Given the description of an element on the screen output the (x, y) to click on. 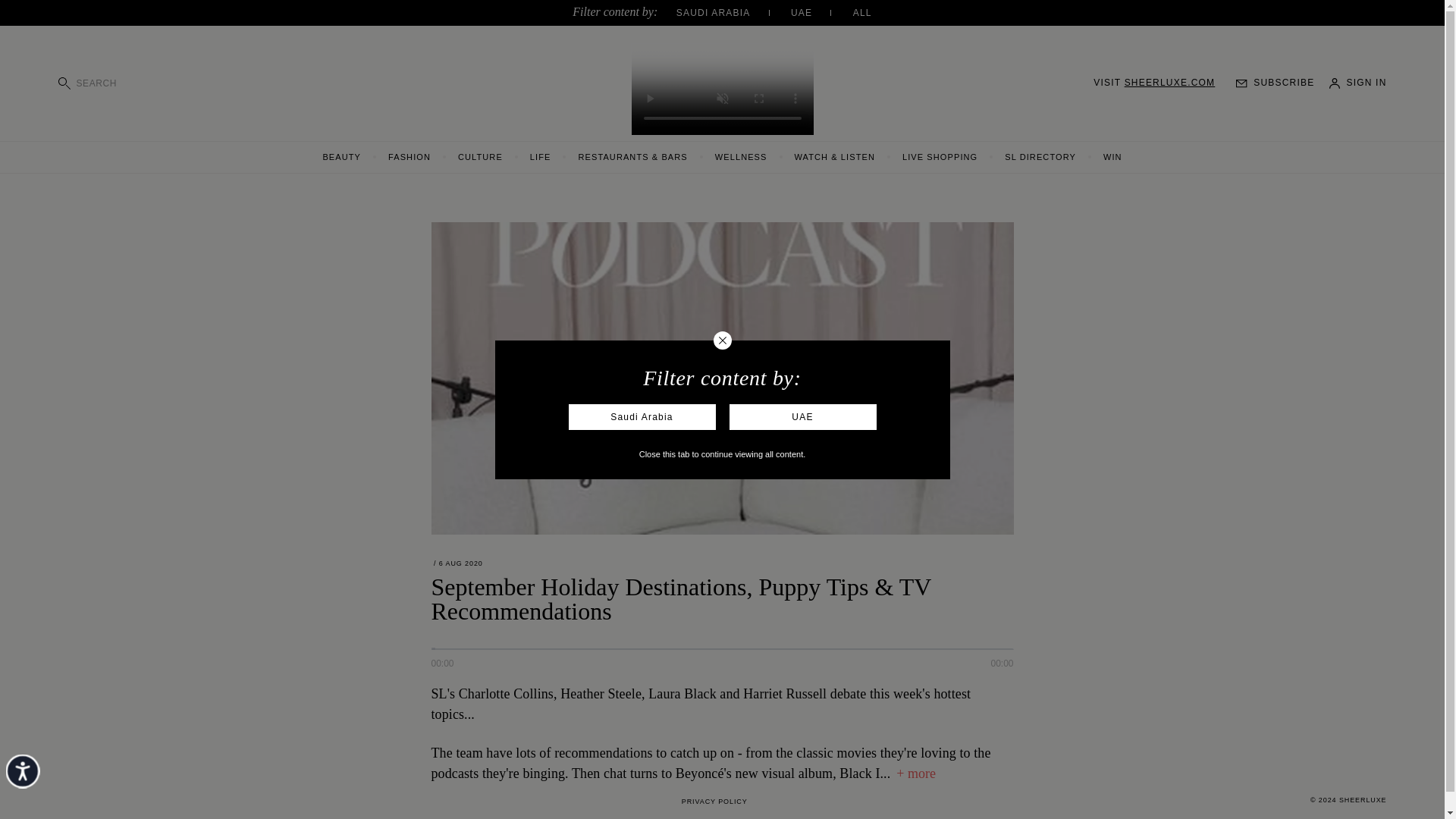
ALL (862, 12)
Enter the terms you wish to search for. (141, 85)
SAUDI ARABIA (732, 12)
UAE (819, 12)
Accessibility (39, 786)
